Given the description of an element on the screen output the (x, y) to click on. 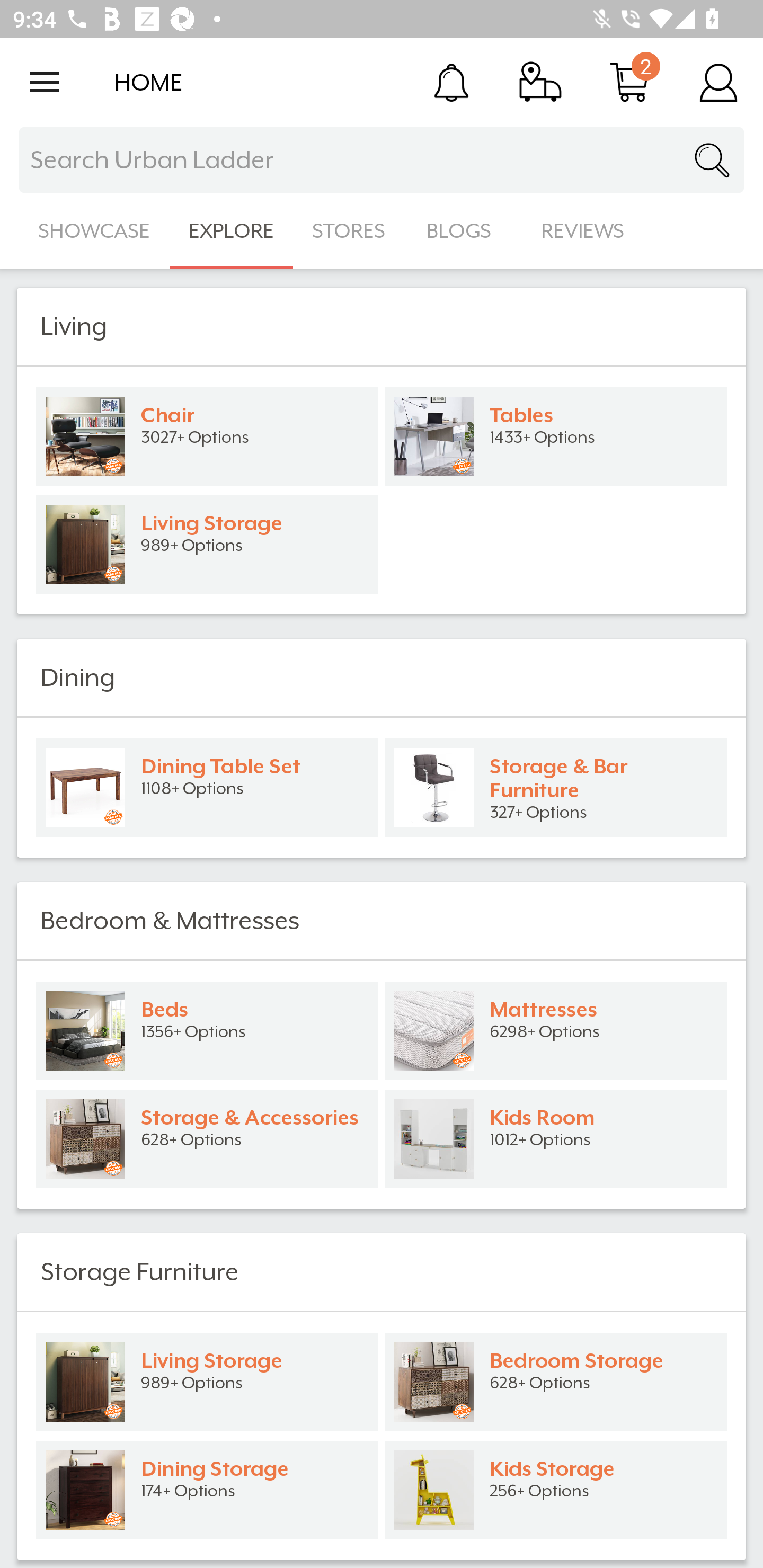
Open navigation drawer (44, 82)
Notification (450, 81)
Track Order (540, 81)
Cart (629, 81)
Account Details (718, 81)
Search Urban Ladder  (381, 159)
SHOWCASE (94, 230)
EXPLORE (230, 230)
STORES (349, 230)
BLOGS (464, 230)
REVIEWS (582, 230)
Chair 3027+ Options (206, 436)
Tables 1433+ Options (555, 436)
Living Storage 989+ Options (206, 544)
Dining Table Set 1108+ Options (206, 787)
Storage & Bar Furniture 327+ Options (555, 787)
Beds 1356+ Options (206, 1030)
Mattresses 6298+ Options (555, 1030)
Storage & Accessories 628+ Options (206, 1139)
Kids Room 1012+ Options (555, 1139)
Living Storage 989+ Options (206, 1382)
Bedroom Storage 628+ Options (555, 1382)
Dining Storage 174+ Options (206, 1490)
Kids Storage 256+ Options (555, 1490)
